Given the description of an element on the screen output the (x, y) to click on. 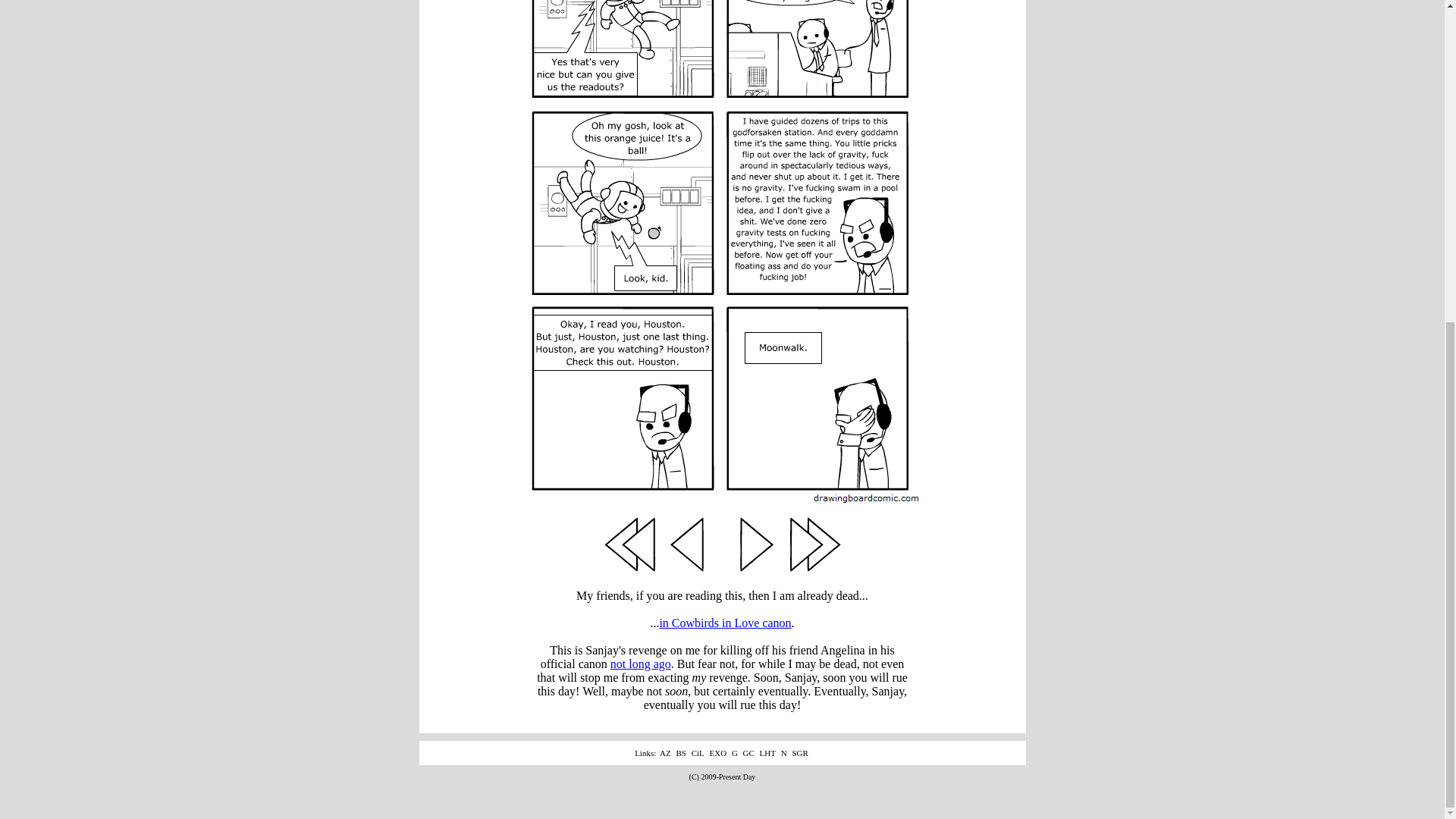
SGR (800, 752)
in Cowbirds in Love canon (724, 622)
BS (680, 752)
not long ago (640, 663)
LHT (768, 752)
EXO (718, 752)
CiL (697, 752)
GC (748, 752)
AZ (665, 752)
